Given the description of an element on the screen output the (x, y) to click on. 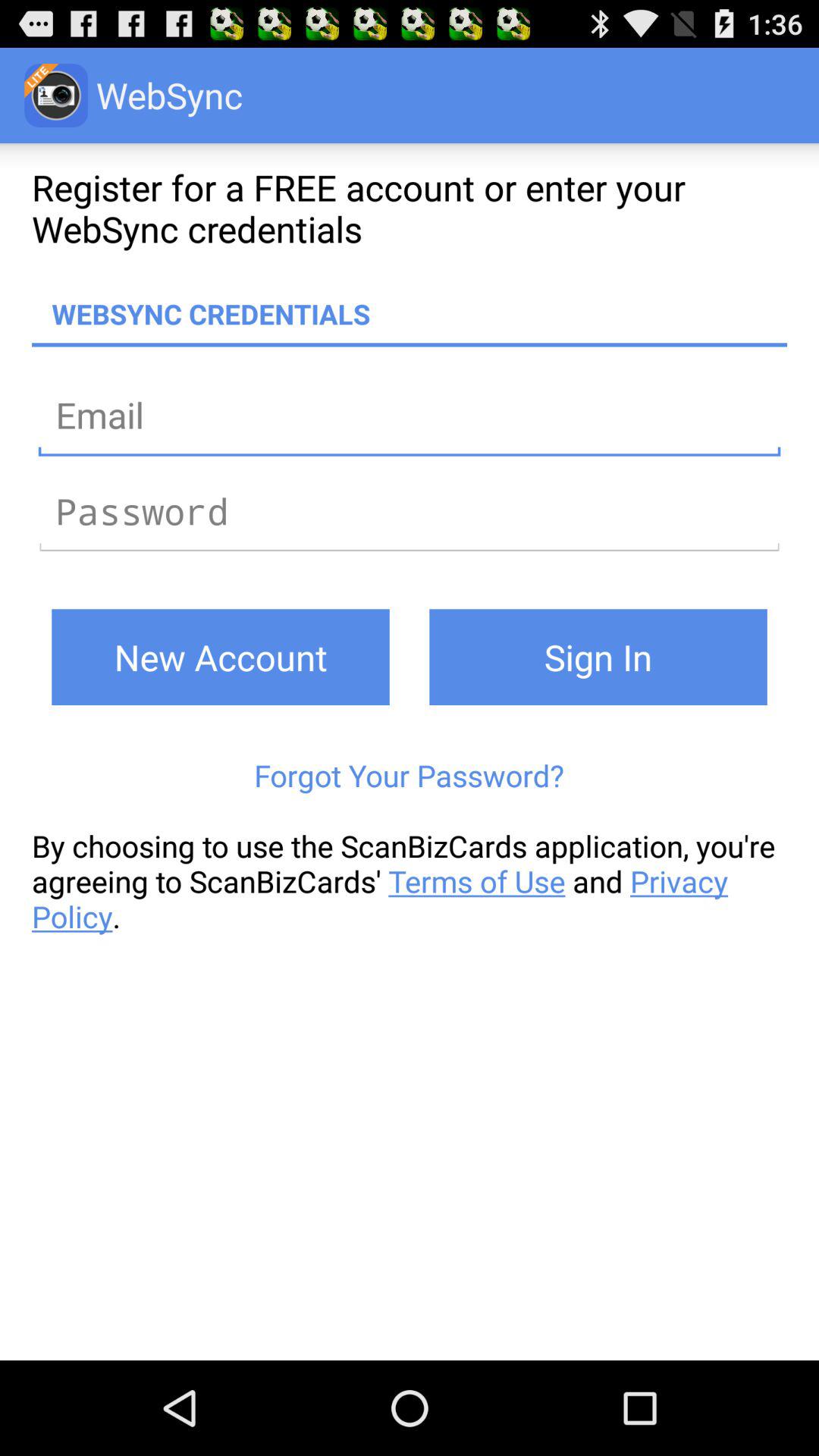
open by choosing to (409, 880)
